Given the description of an element on the screen output the (x, y) to click on. 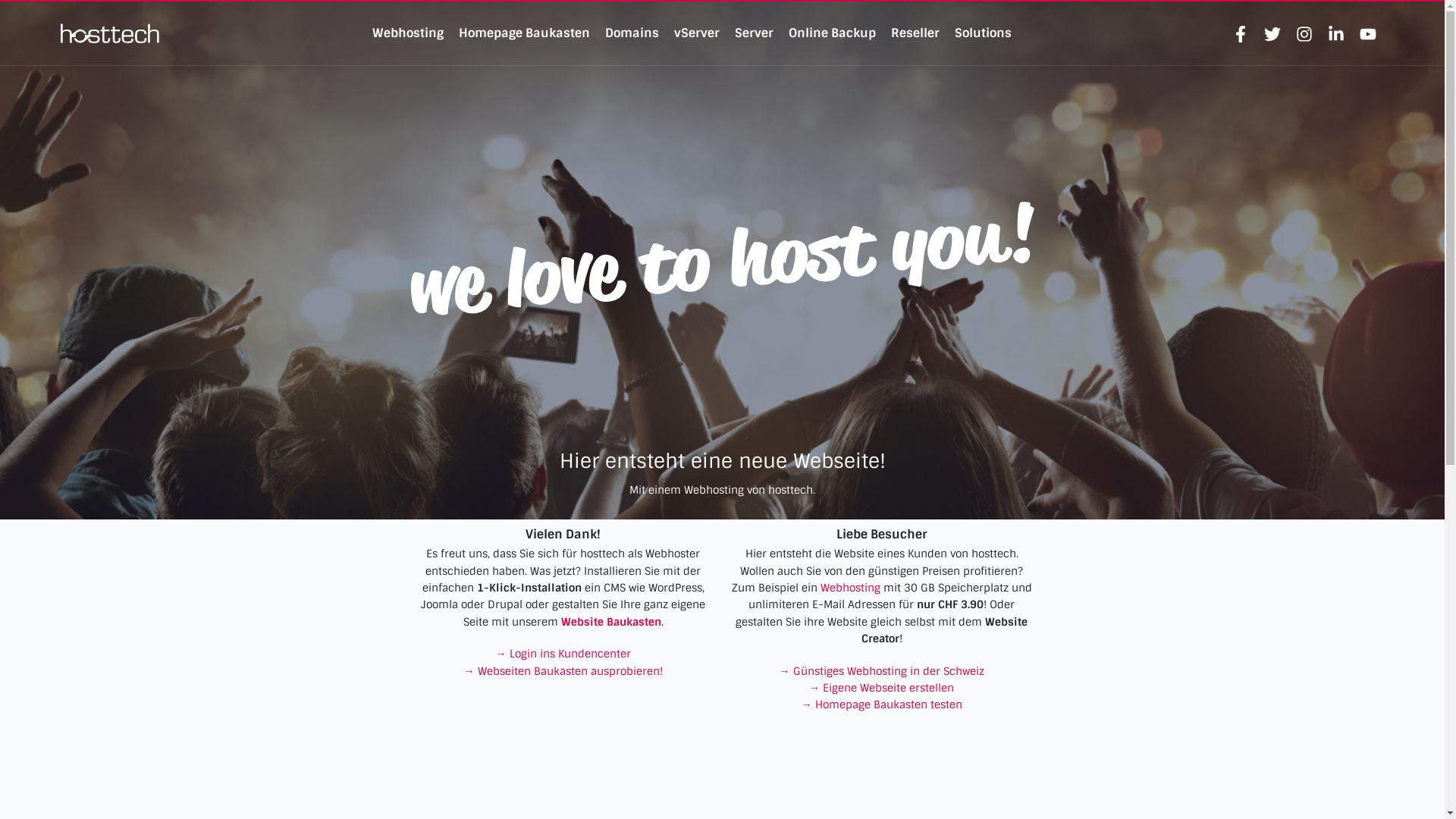
Server Element type: text (753, 32)
Website Baukasten Element type: text (611, 621)
Online Backup Element type: text (831, 32)
Reseller Element type: text (915, 32)
Solutions Element type: text (982, 32)
Webhosting Element type: text (850, 587)
Webhosting Element type: text (407, 32)
Homepage Baukasten Element type: text (523, 32)
Domains Element type: text (631, 32)
vServer Element type: text (696, 32)
